Given the description of an element on the screen output the (x, y) to click on. 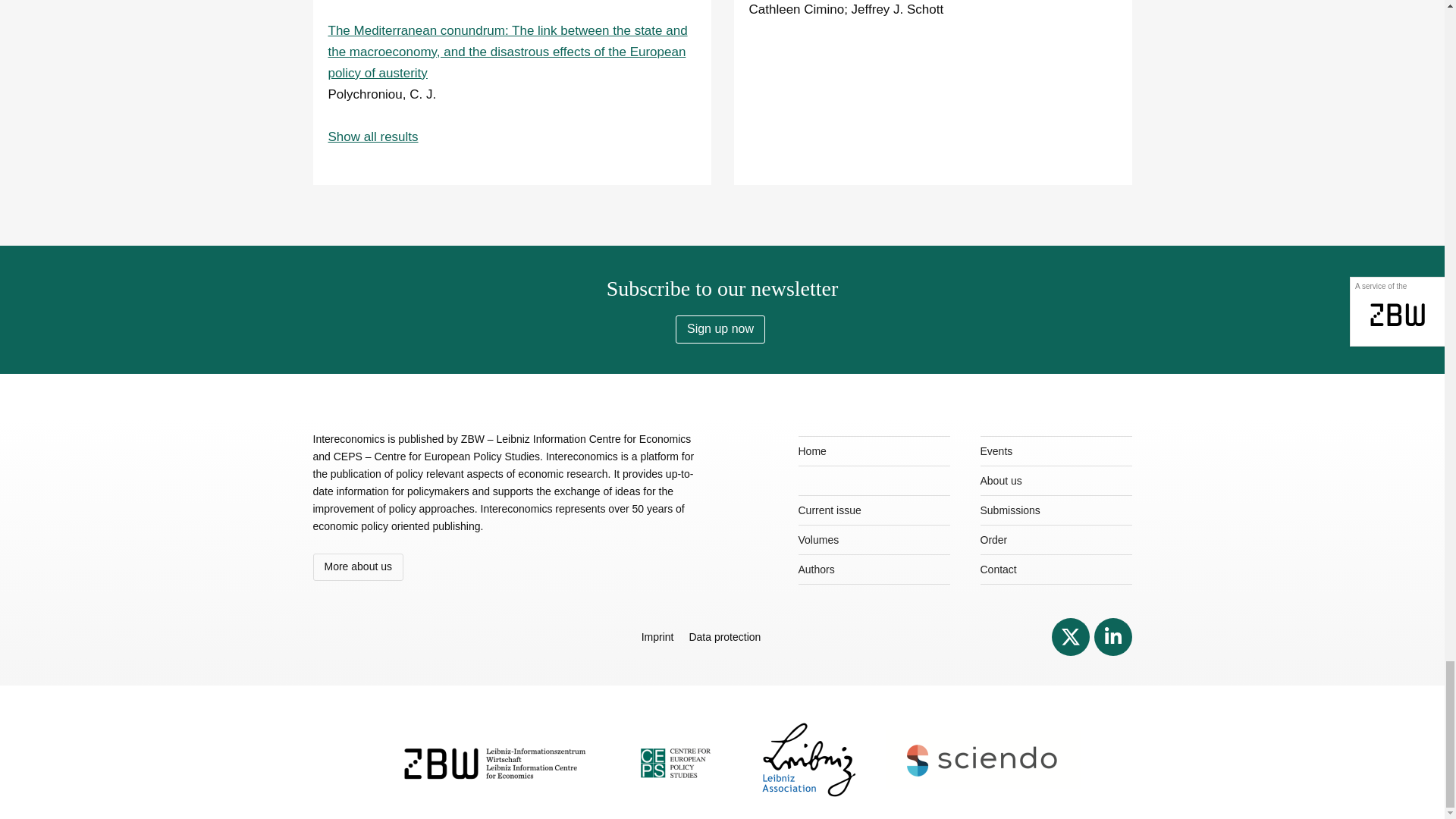
Show all results (372, 135)
Intereconomics on X (1070, 636)
Intereconomics on LinkedIn (1112, 636)
